Given the description of an element on the screen output the (x, y) to click on. 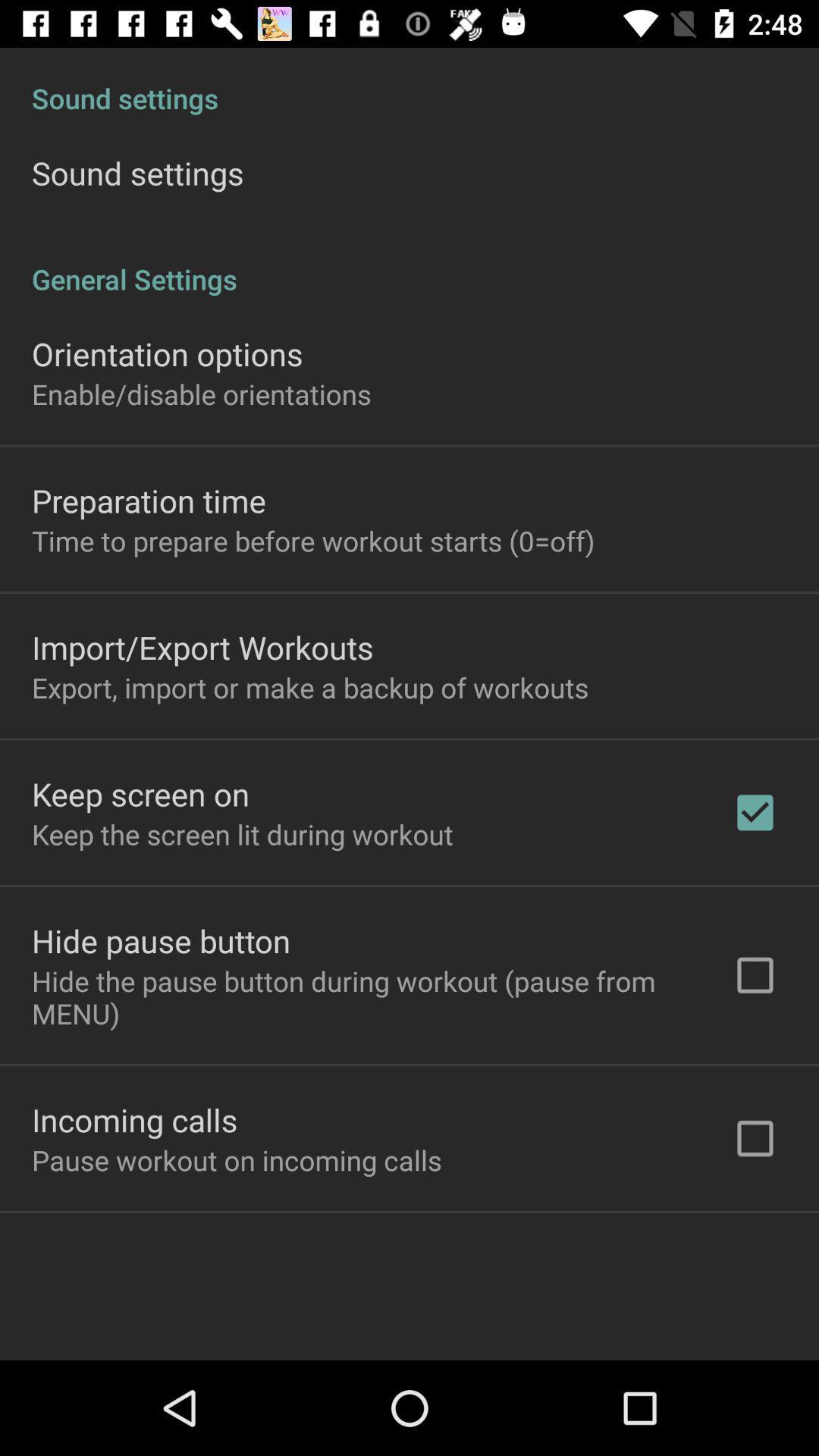
turn off item below general settings item (167, 353)
